Given the description of an element on the screen output the (x, y) to click on. 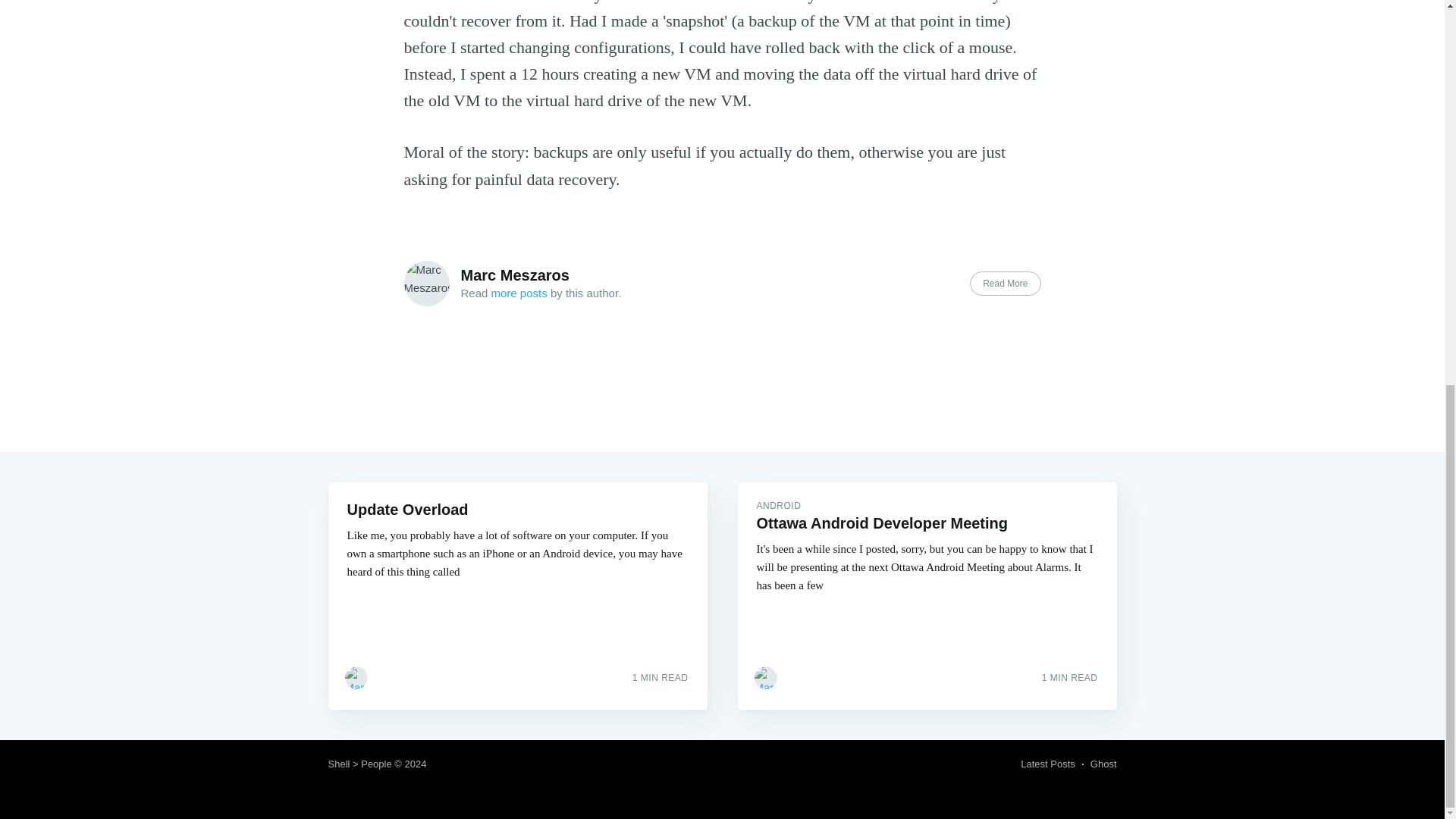
Latest Posts (1047, 764)
more posts (519, 292)
Marc Meszaros (515, 274)
Ghost (1103, 764)
Read More (1005, 283)
